Given the description of an element on the screen output the (x, y) to click on. 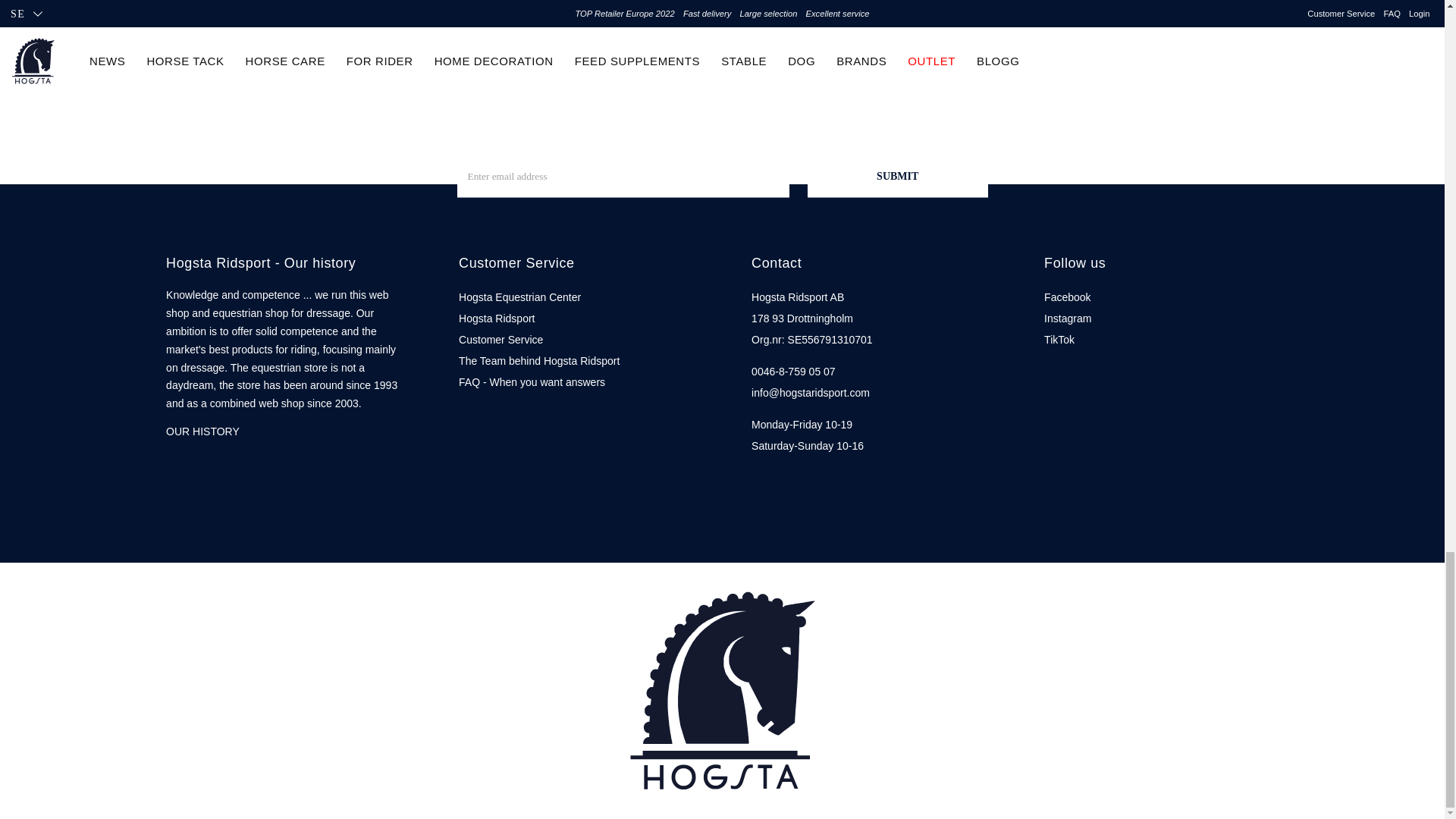
HERE (641, 26)
